Given the description of an element on the screen output the (x, y) to click on. 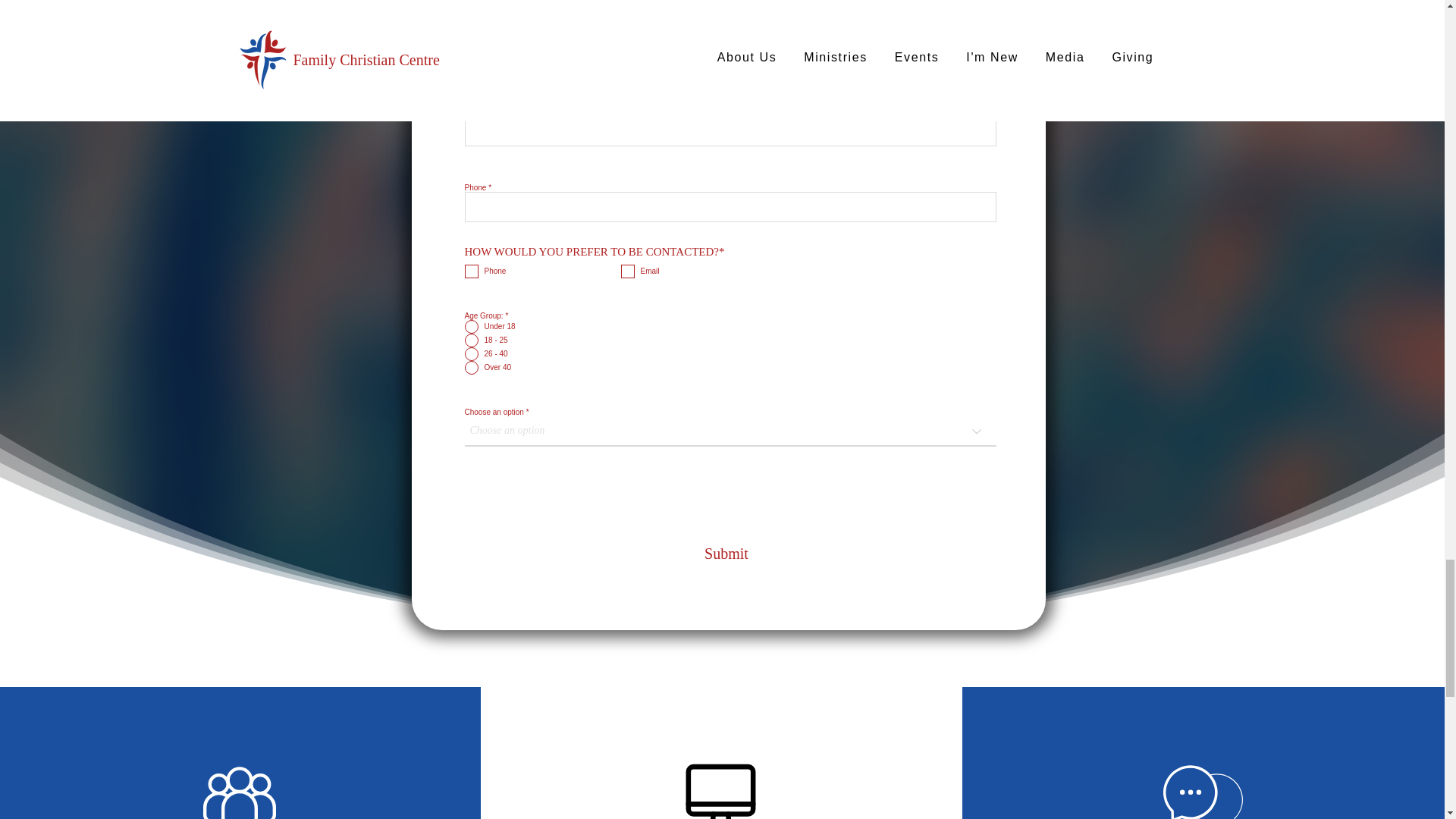
Submit (726, 552)
